Given the description of an element on the screen output the (x, y) to click on. 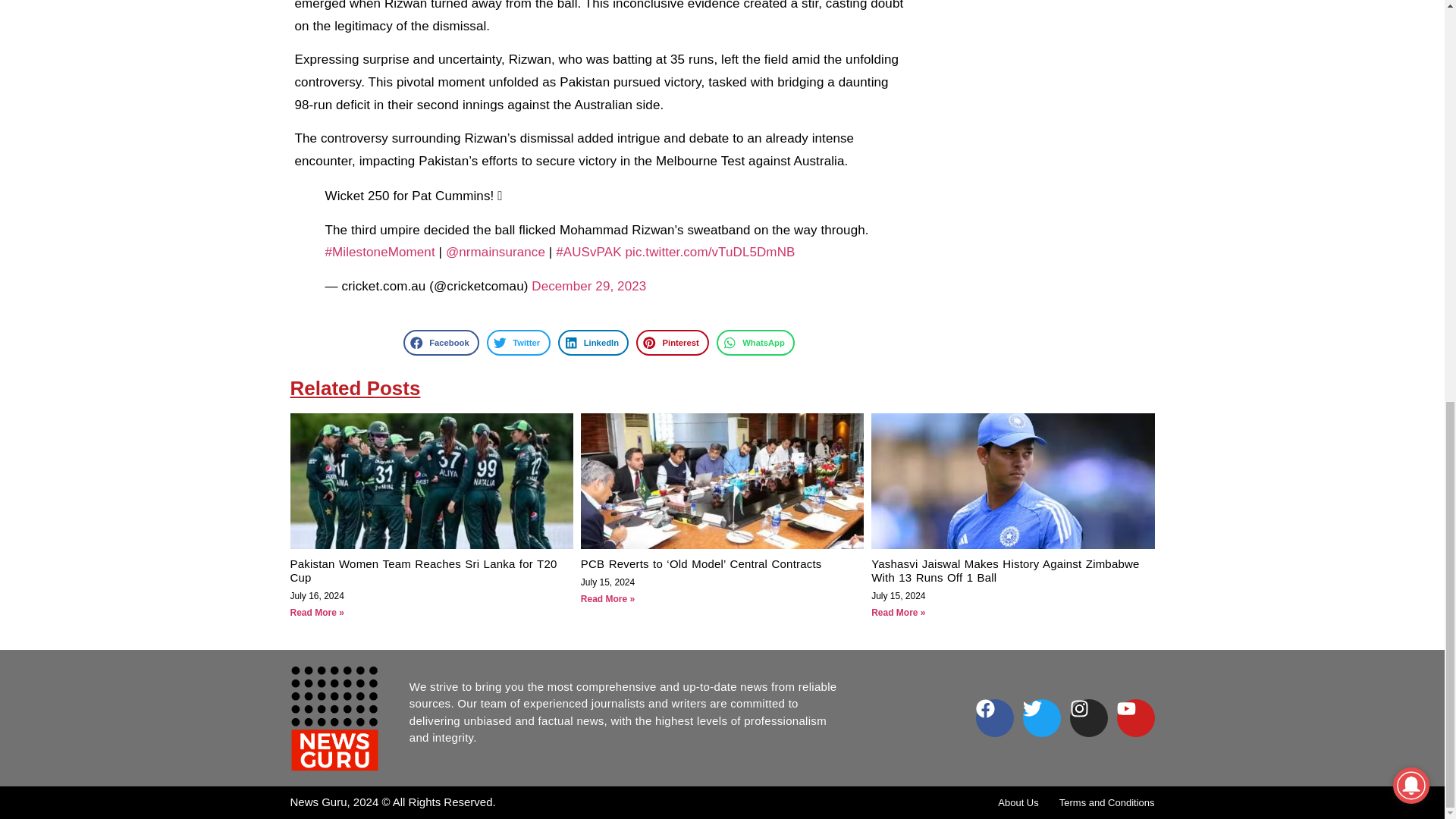
WebsiteVoice (1352, 49)
